Given the description of an element on the screen output the (x, y) to click on. 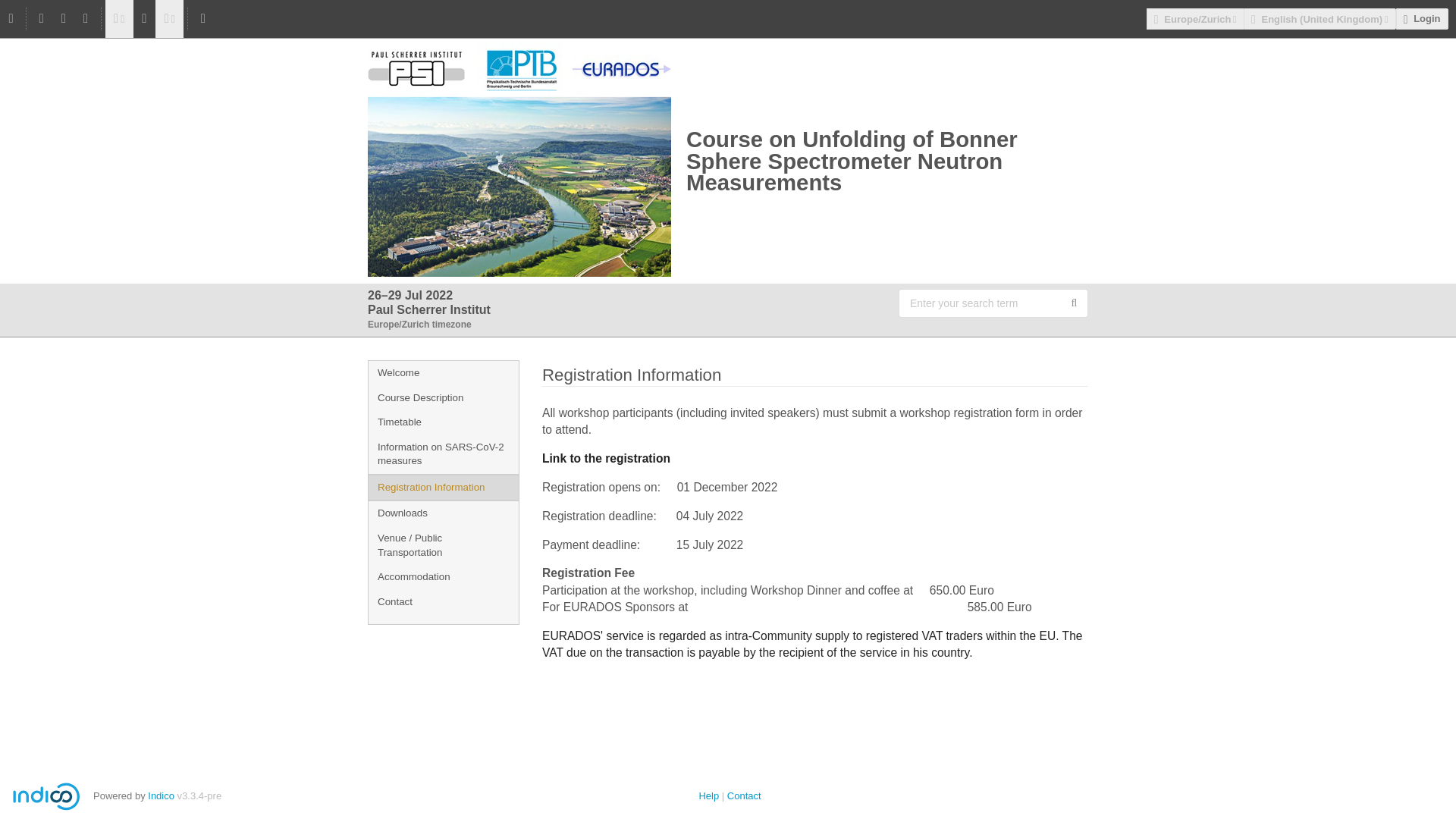
Timetable (443, 422)
Registration Information (443, 488)
Accommodation (443, 577)
Course Description (443, 398)
Downloads (443, 513)
Welcome (443, 373)
Information on SARS-CoV-2 measures (443, 454)
Login (1422, 19)
